Given the description of an element on the screen output the (x, y) to click on. 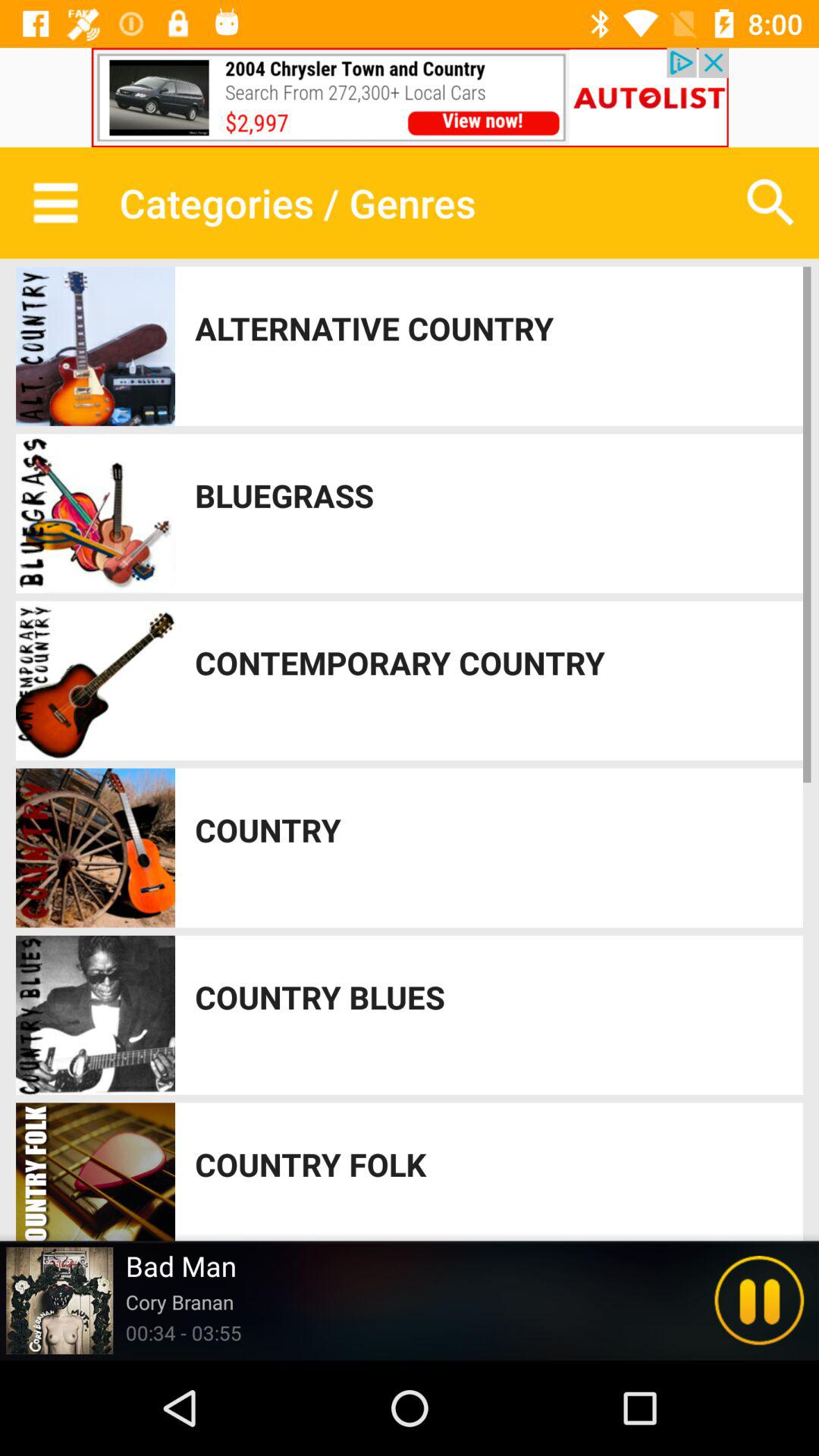
pause (759, 1300)
